Given the description of an element on the screen output the (x, y) to click on. 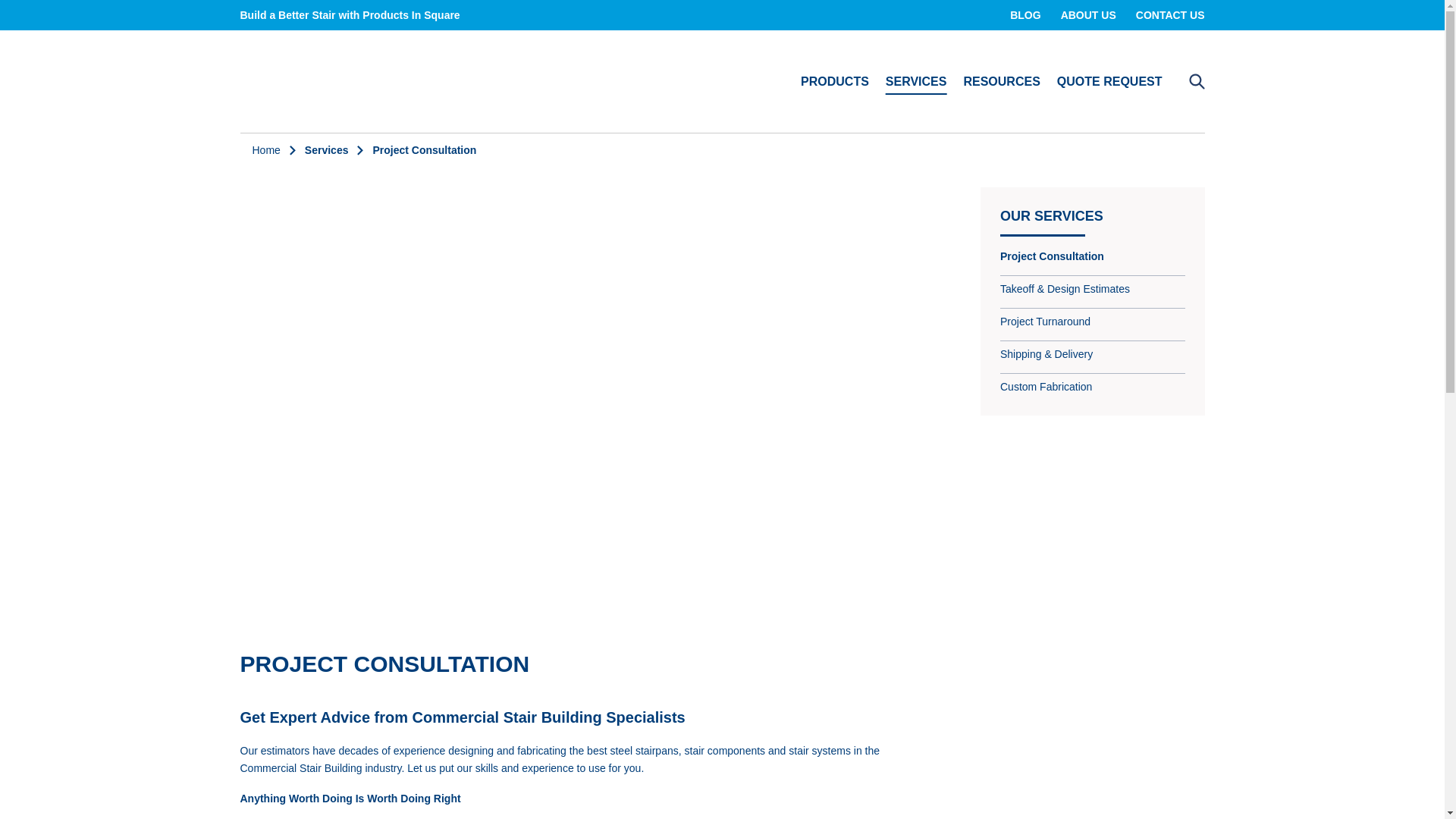
PRODUCTS (834, 80)
BLOG (1024, 14)
RESOURCES (1000, 80)
QUOTE REQUEST (1109, 80)
CONTACT US (1169, 14)
Search (1195, 81)
ABOUT US (1088, 14)
SERVICES (916, 80)
